Given the description of an element on the screen output the (x, y) to click on. 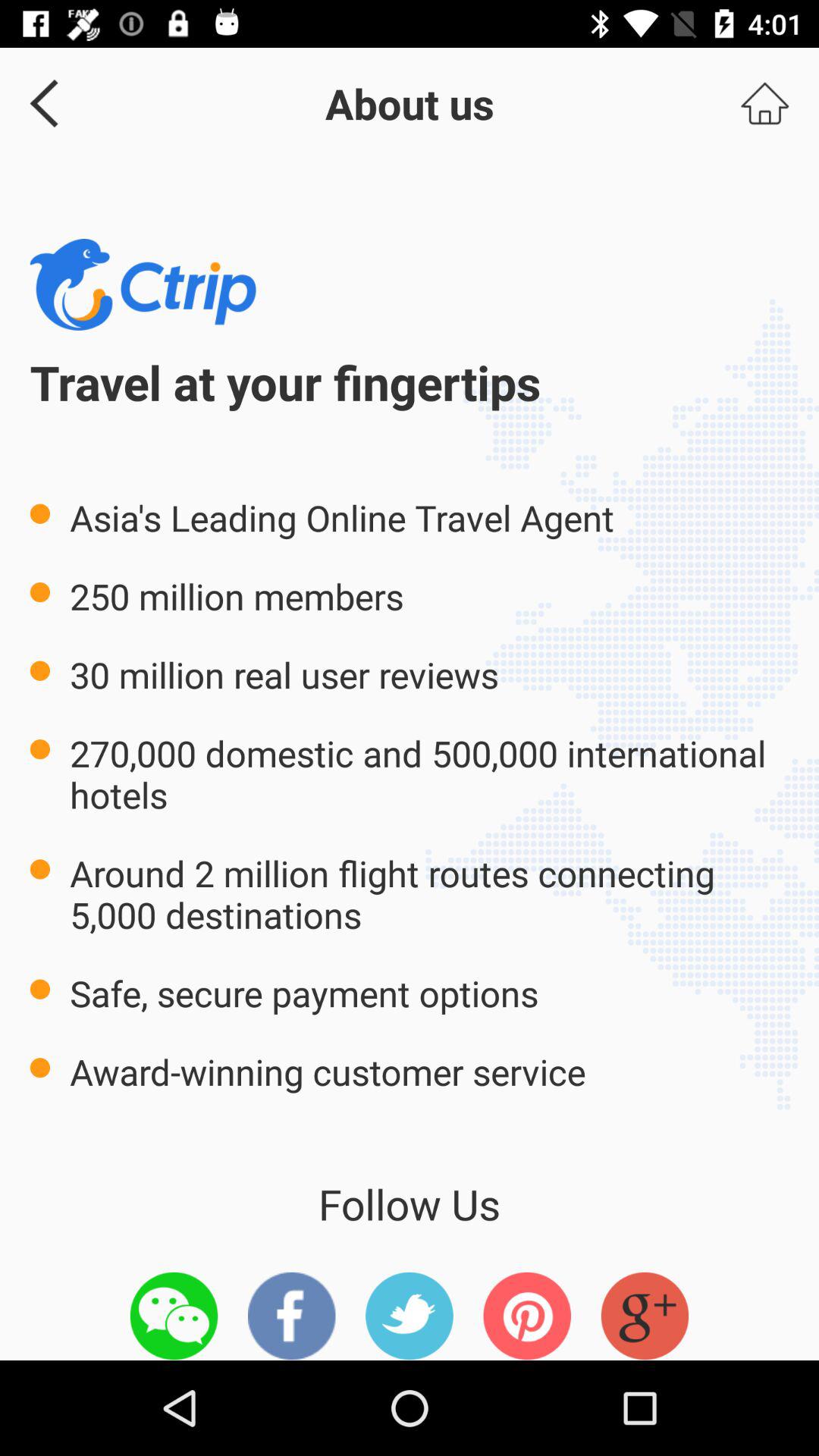
press icon below the award winning customer icon (173, 1315)
